Given the description of an element on the screen output the (x, y) to click on. 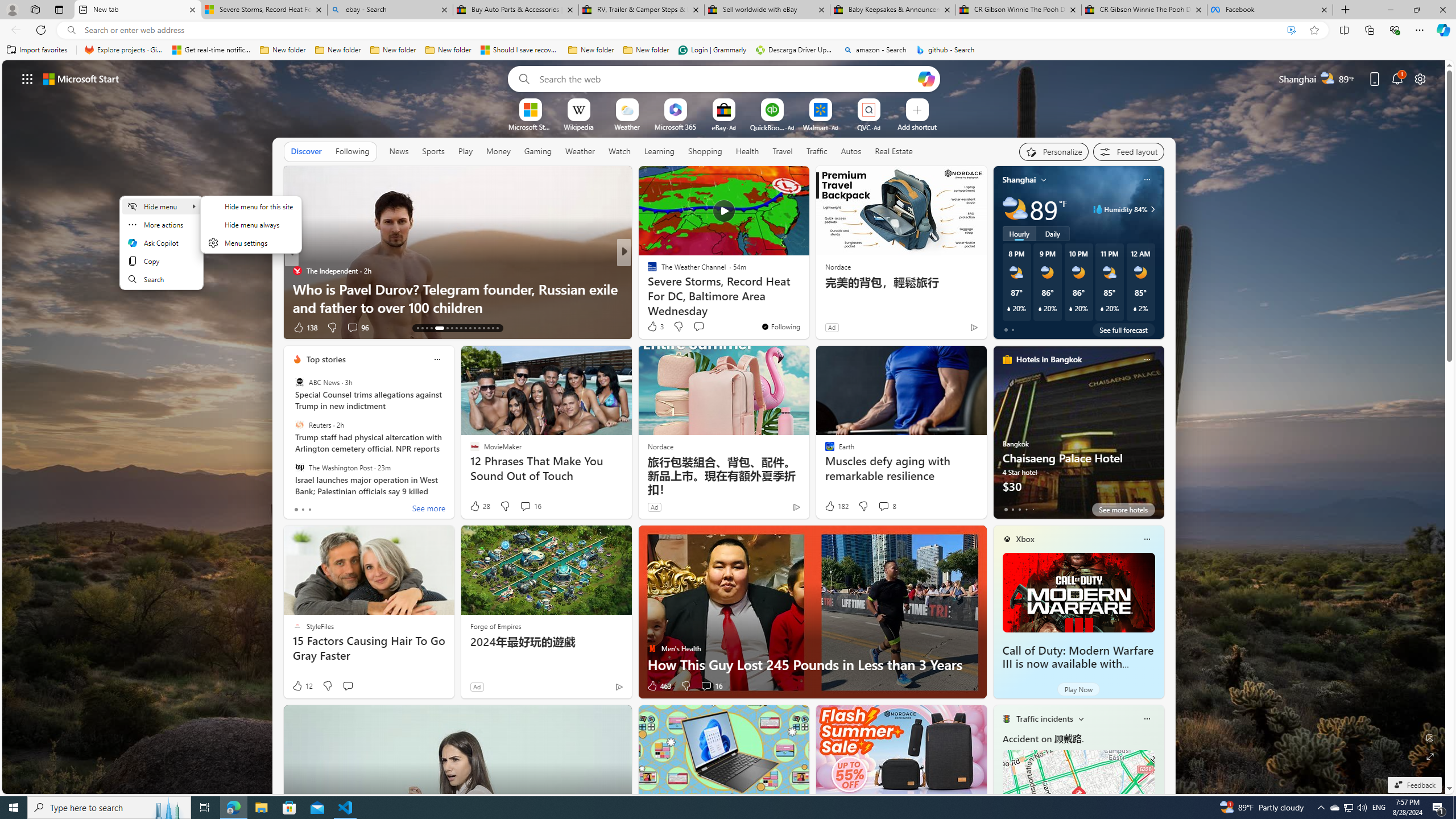
tab-4 (1032, 509)
AutomationID: backgroundImagePicture (723, 426)
Hourly (1018, 233)
Class: weather-current-precipitation-glyph (1134, 308)
The Washington Post (299, 466)
View comments 1 Comment (705, 327)
138 Like (304, 327)
Hotels in Bangkok (1048, 359)
AutomationID: tab-27 (488, 328)
AutomationID: tab-21 (460, 328)
tab-1 (1012, 509)
